Given the description of an element on the screen output the (x, y) to click on. 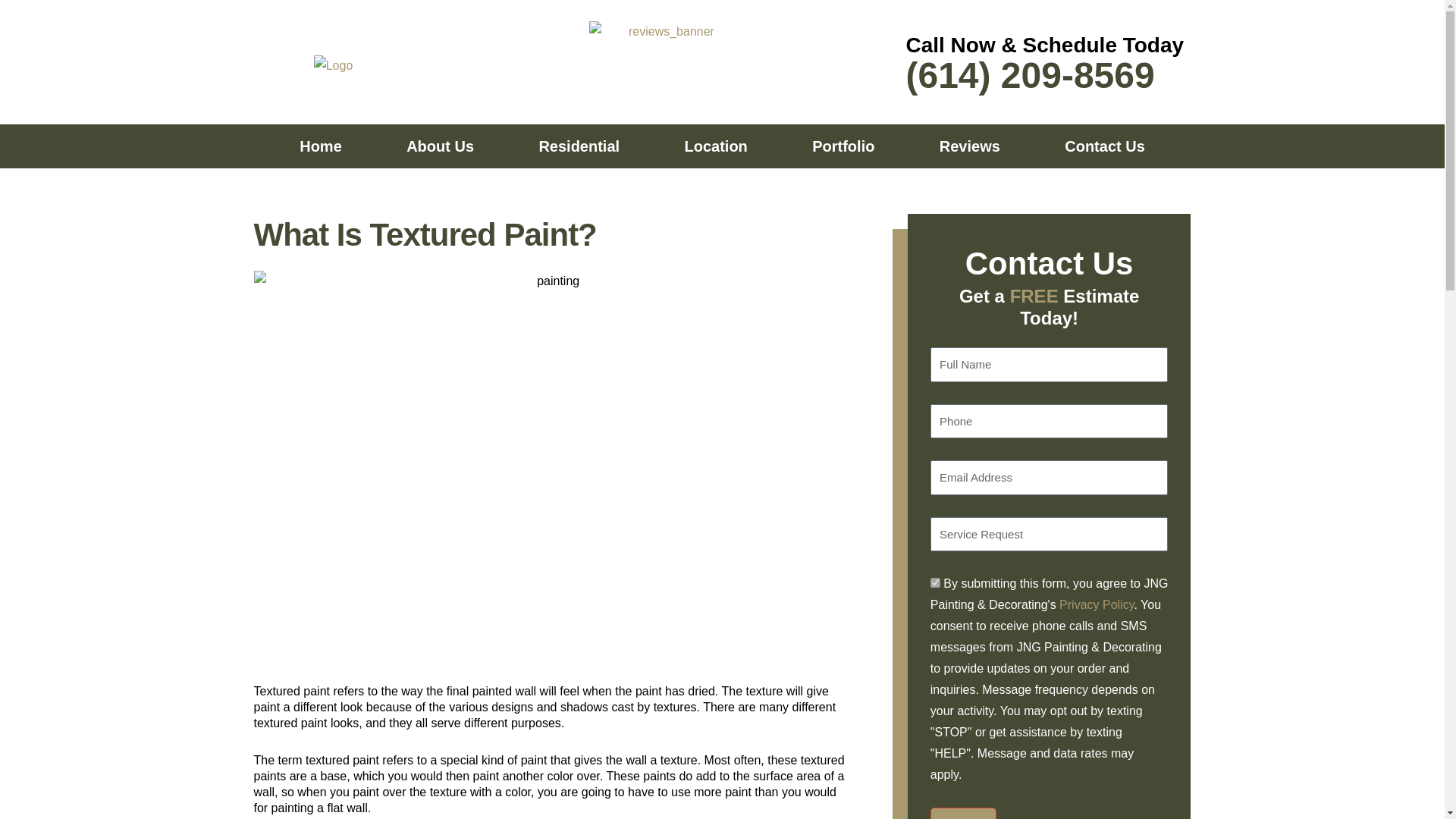
on (935, 583)
Reviews (969, 146)
Residential (579, 146)
Logo (333, 65)
Contact Us (1104, 146)
Home (320, 146)
About Us (439, 146)
Portfolio (843, 146)
Location (716, 146)
